Given the description of an element on the screen output the (x, y) to click on. 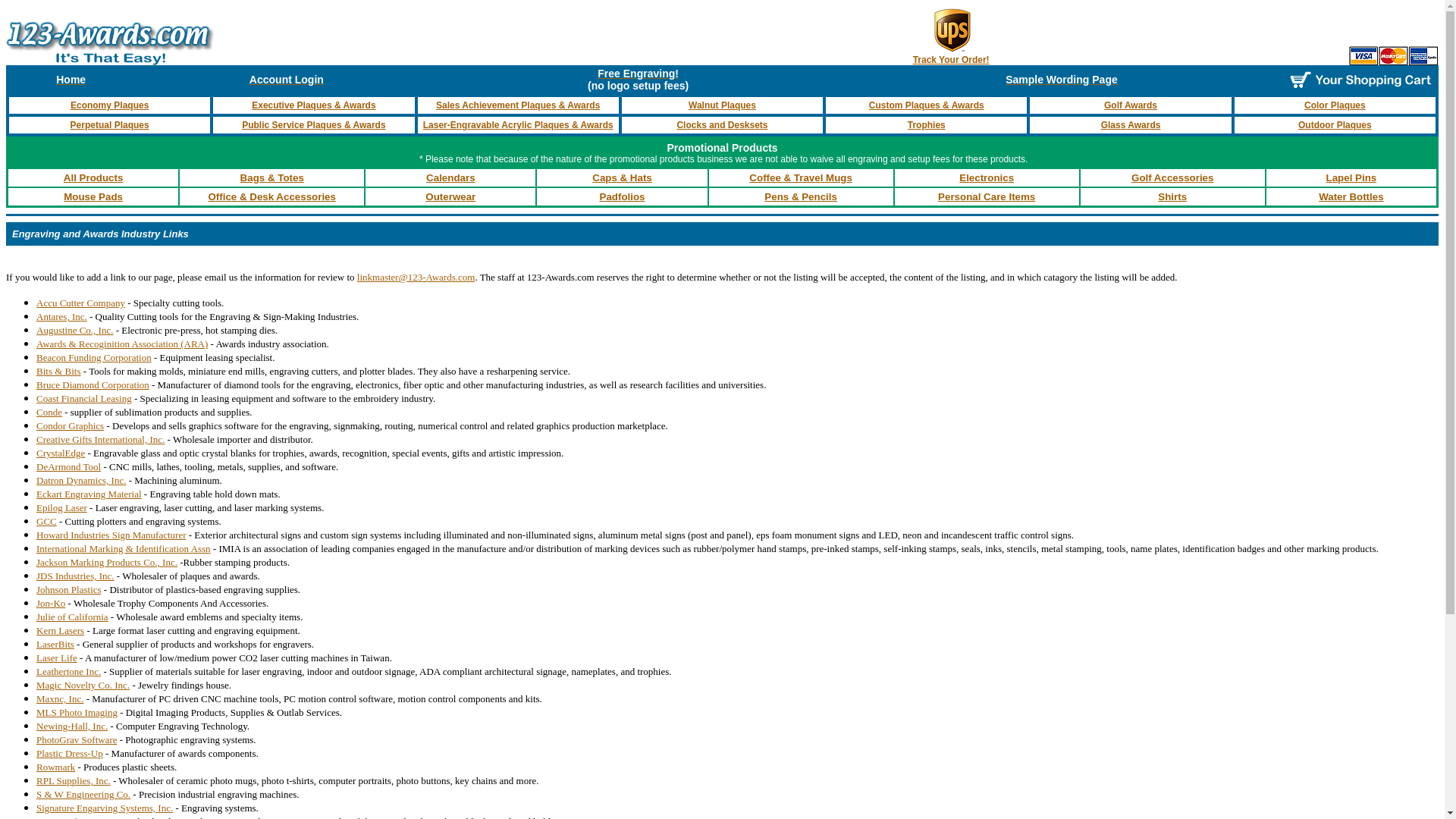
Perpetual Plaques Element type: text (109, 124)
Caps & Hats Element type: text (622, 177)
Executive Plaques & Awards Element type: text (313, 105)
Calendars Element type: text (450, 177)
Shirts Element type: text (1171, 196)
Sample Wording Page Element type: text (1061, 79)
DeArmond Tool Element type: text (68, 465)
Beacon Funding Corporation Element type: text (93, 356)
Outdoor Plaques Element type: text (1334, 124)
Bags & Totes Element type: text (272, 177)
Sales Achievement Plaques & Awards Element type: text (517, 105)
Awards & Recoginition Association (ARA) Element type: text (121, 343)
Magic Novelty Co. Inc. Element type: text (82, 684)
Kern Lasers Element type: text (60, 630)
Glass Awards Element type: text (1131, 124)
Economy Plaques Element type: text (109, 105)
Track Your Order! Element type: text (951, 59)
International Marking & Identification Assn Element type: text (123, 547)
GCC Element type: text (46, 521)
LaserBits Element type: text (55, 643)
Golf Awards Element type: text (1130, 105)
Water Bottles Element type: text (1350, 196)
RPL Supplies, Inc. Element type: text (73, 780)
Bruce Diamond Corporation Element type: text (92, 384)
Electronics Element type: text (986, 177)
CrystalEdge Element type: text (60, 452)
Home Element type: text (70, 79)
Leathertone Inc. Element type: text (68, 671)
Johnson Plastics Element type: text (68, 589)
Epilog Laser Element type: text (61, 507)
Newing-Hall, Inc. Element type: text (71, 725)
Coffee & Travel Mugs Element type: text (800, 177)
Outerwear Element type: text (450, 196)
Eckart Engraving Material Element type: text (88, 493)
Pens & Pencils Element type: text (800, 196)
Public Service Plaques & Awards Element type: text (313, 124)
MLS Photo Imaging Element type: text (76, 712)
Mouse Pads Element type: text (92, 196)
PhotoGrav Software Element type: text (76, 739)
Walnut Plaques Element type: text (722, 105)
Account Login Element type: text (286, 79)
Signature Engarving Systems, Inc. Element type: text (104, 807)
Laser-Engravable Acrylic Plaques & Awards Element type: text (518, 124)
Datron Dynamics, Inc. Element type: text (80, 480)
Julie of California Element type: text (72, 616)
Padfolios Element type: text (622, 196)
Antares, Inc. Element type: text (61, 316)
S & W Engineering Co. Element type: text (83, 794)
Free Engraving! Element type: text (637, 73)
Office & Desk Accessories Element type: text (271, 196)
Condor Graphics Element type: text (69, 425)
All Products Element type: text (93, 177)
Clocks and Desksets Element type: text (721, 124)
Jon-Ko Element type: text (50, 602)
Coast Financial Leasing Element type: text (83, 398)
Laser Life Element type: text (56, 656)
Personal Care Items Element type: text (986, 196)
Rowmark Element type: text (55, 766)
Custom Plaques & Awards Element type: text (926, 105)
Golf Accessories Element type: text (1172, 177)
Lapel Pins Element type: text (1351, 177)
Howard Industries Sign Manufacturer Element type: text (110, 534)
Maxnc, Inc. Element type: text (59, 698)
Trophies Element type: text (926, 124)
Creative Gifts International, Inc. Element type: text (100, 439)
Augustine Co., Inc. Element type: text (74, 329)
Plastic Dress-Up Element type: text (69, 753)
linkmaster@123-Awards.com Element type: text (416, 276)
Bits & Bits Element type: text (58, 370)
Accu Cutter Company Element type: text (80, 302)
JDS Industries, Inc. Element type: text (75, 575)
Conde Element type: text (49, 411)
Jackson Marking Products Co., Inc. Element type: text (106, 561)
Color Plaques Element type: text (1334, 105)
